Given the description of an element on the screen output the (x, y) to click on. 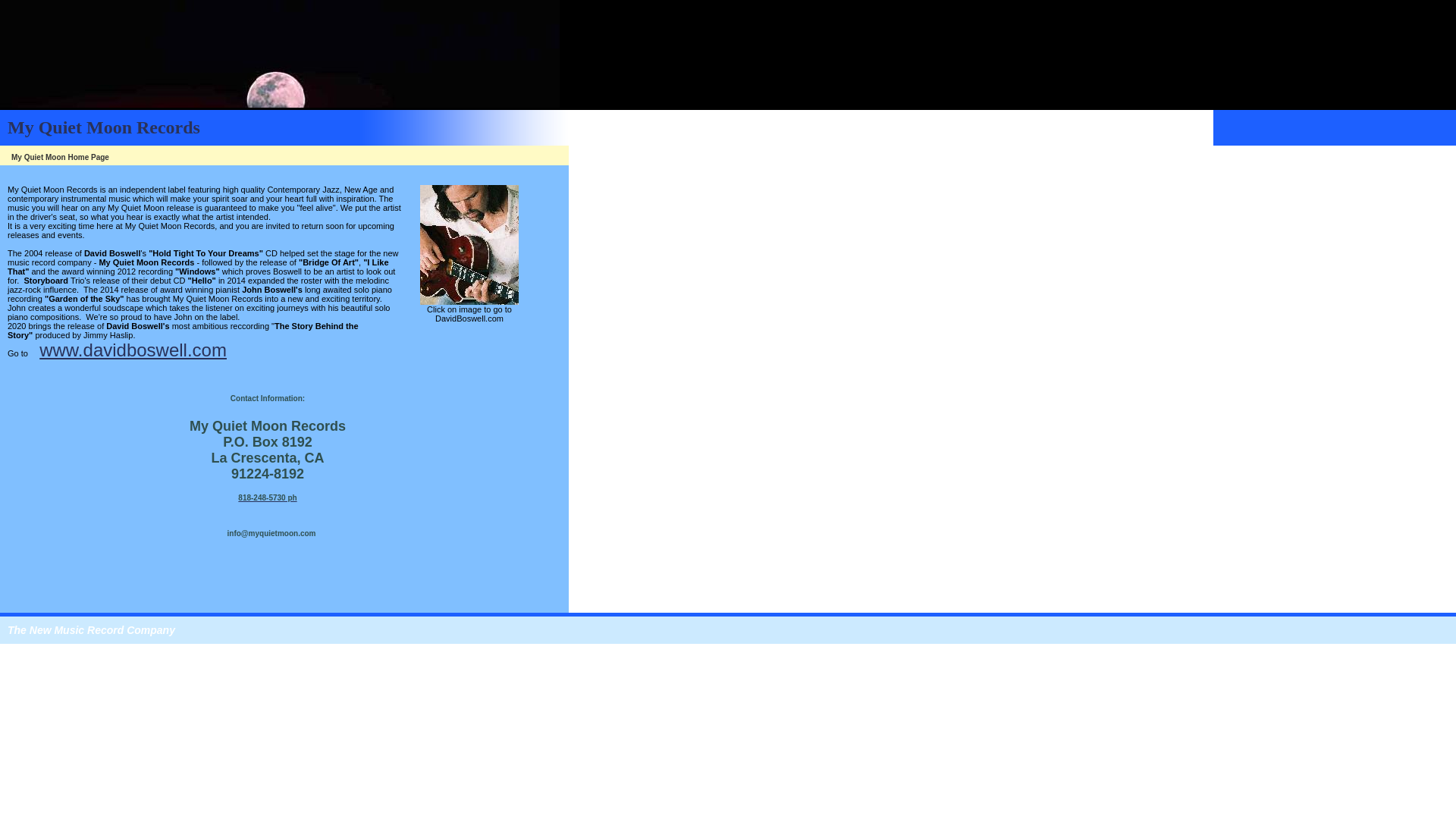
www.davidboswell.com (133, 349)
My Quiet Moon Home Page (60, 155)
818-248-5730 ph (267, 497)
